Given the description of an element on the screen output the (x, y) to click on. 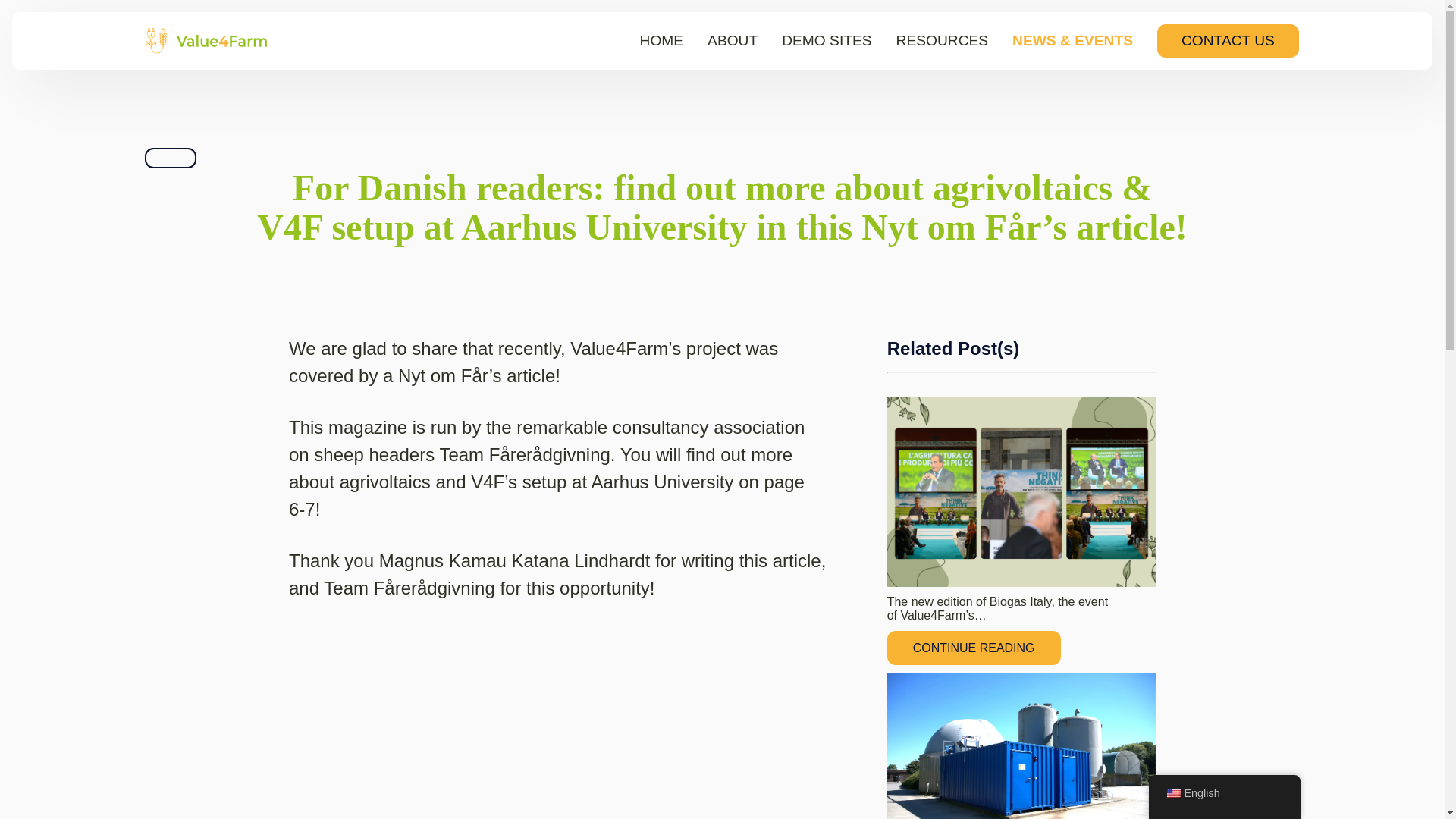
DEMO SITES (825, 40)
HOME (662, 40)
English (1172, 792)
ABOUT (732, 40)
English (1224, 792)
CONTINUE READING (973, 647)
RESOURCES (942, 40)
CONTACT US (1227, 40)
